Given the description of an element on the screen output the (x, y) to click on. 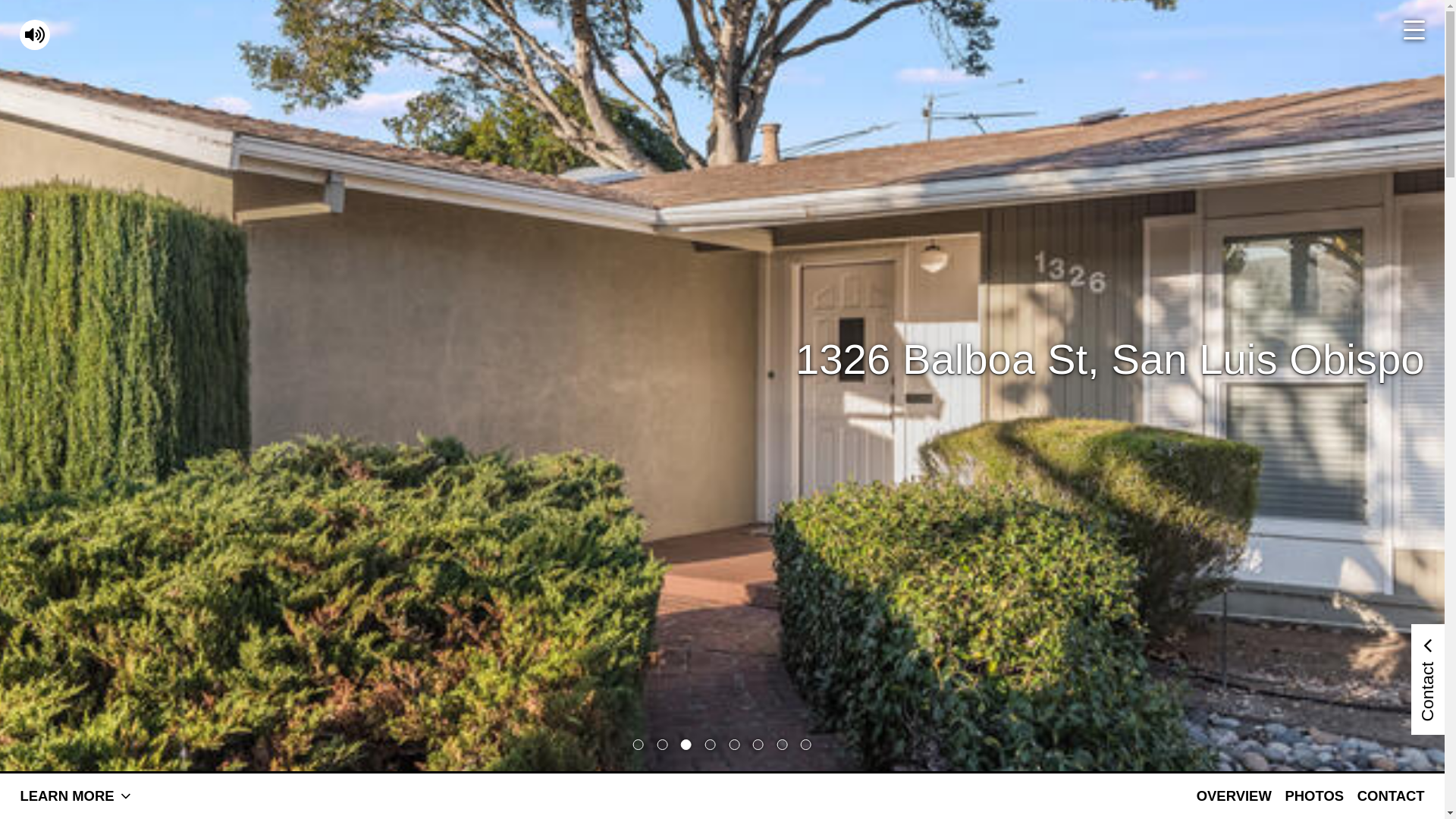
OVERVIEW Element type: text (1233, 796)
PHOTOS Element type: text (1313, 796)
CONTACT Element type: text (1390, 796)
